Given the description of an element on the screen output the (x, y) to click on. 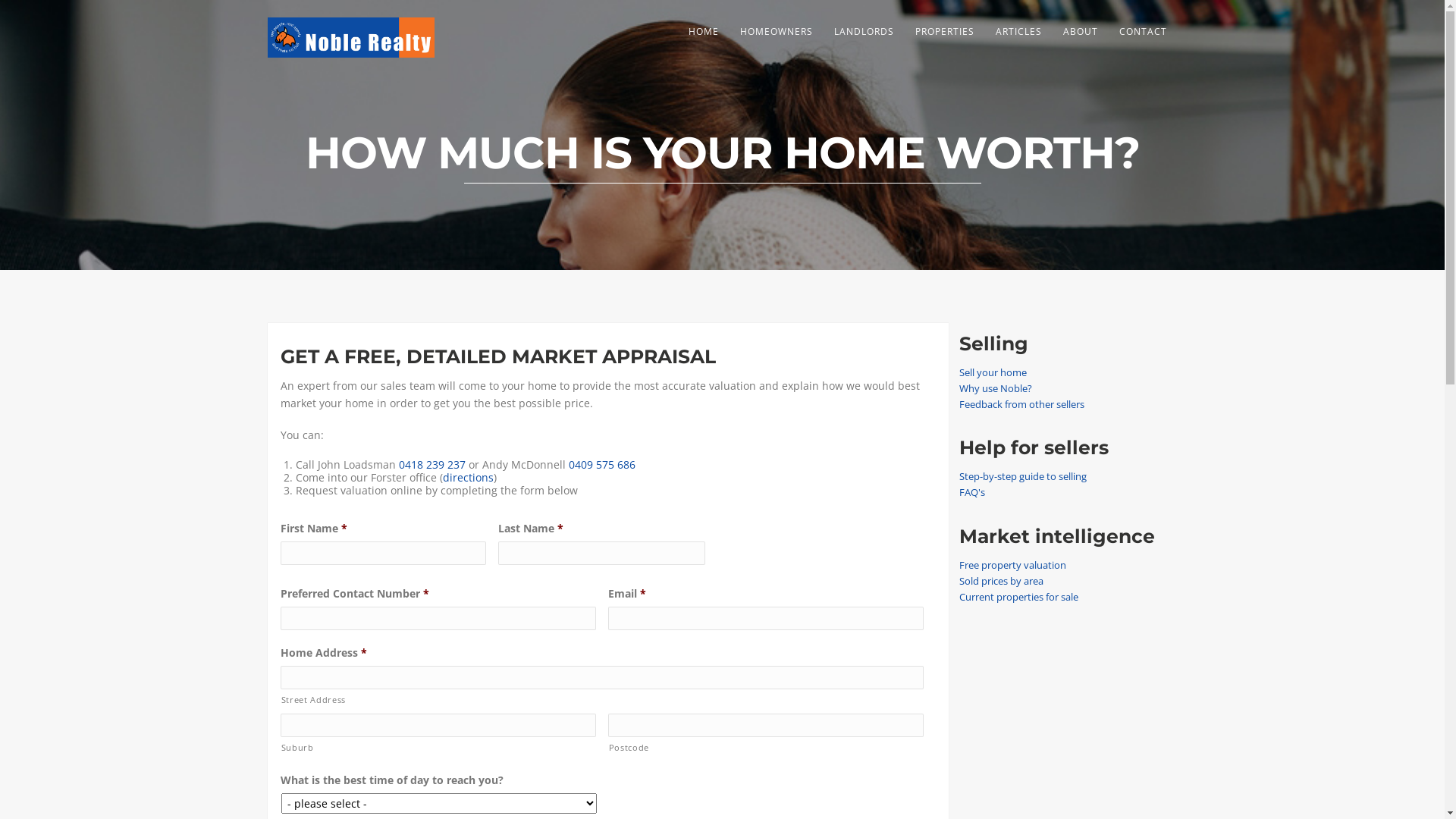
FAQ's Element type: text (971, 491)
0418 239 237 Element type: text (431, 464)
Sold prices by area Element type: text (1000, 580)
ARTICLES Element type: text (1017, 31)
Feedback from other sellers Element type: text (1020, 404)
LANDLORDS Element type: text (863, 31)
Current properties for sale Element type: text (1017, 596)
0409 575 686 Element type: text (601, 464)
HOMEOWNERS Element type: text (776, 31)
Free property valuation Element type: text (1011, 564)
Why use Noble? Element type: text (994, 388)
Step-by-step guide to selling Element type: text (1021, 476)
HOME Element type: text (703, 31)
ABOUT Element type: text (1080, 31)
CONTACT Element type: text (1142, 31)
directions Element type: text (467, 477)
Sell your home Element type: text (992, 372)
PROPERTIES Element type: text (943, 31)
